Given the description of an element on the screen output the (x, y) to click on. 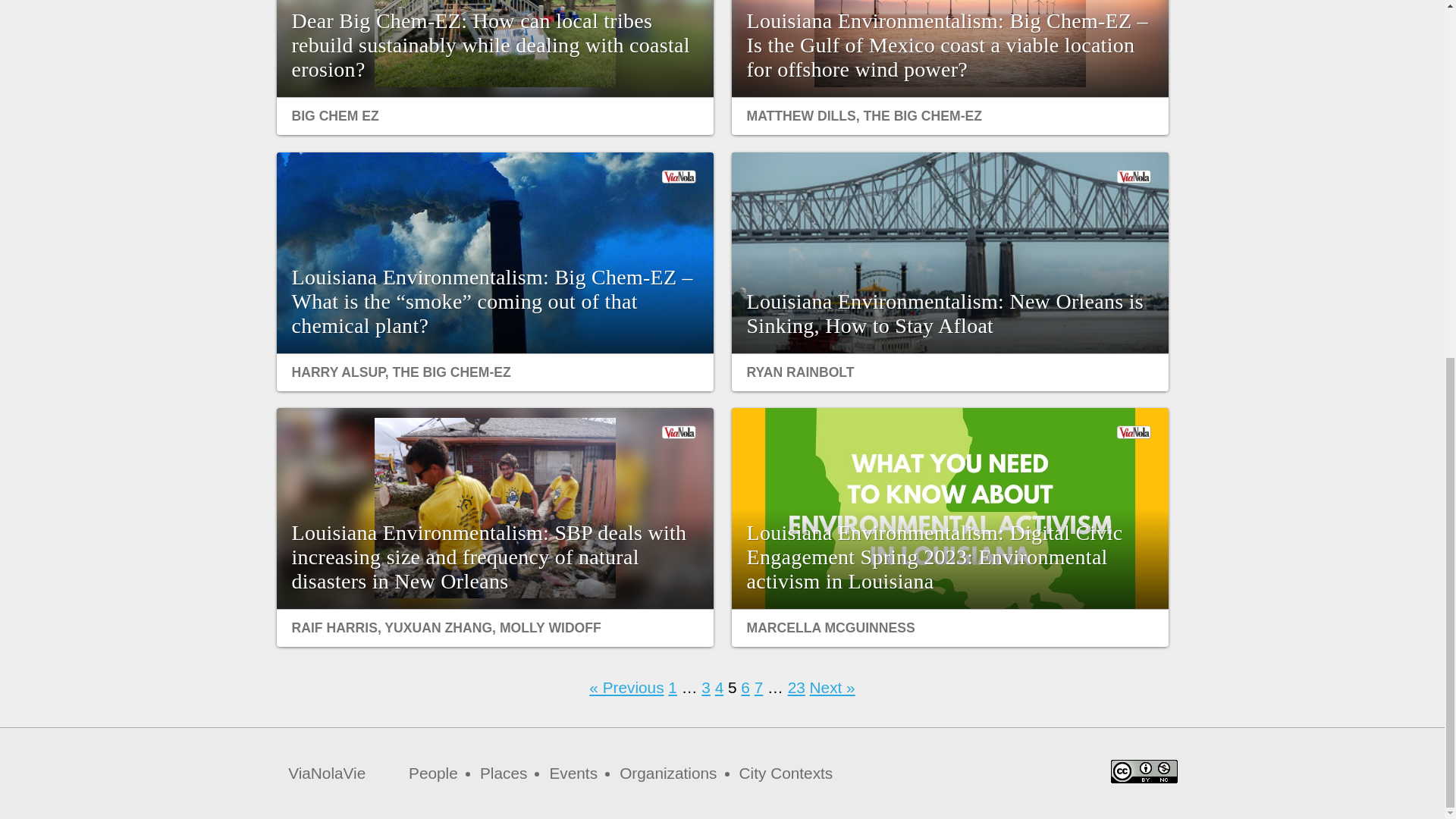
MOLLY WIDOFF (550, 627)
ViaNolaVie (325, 773)
RAIF HARRIS (334, 627)
HARRY ALSUP (337, 372)
RYAN RAINBOLT (799, 372)
MARCELLA MCGUINNESS (829, 627)
Places (503, 773)
BIG CHEM EZ (334, 115)
23 (796, 687)
YUXUAN ZHANG (438, 627)
MATTHEW DILLS (800, 115)
People (433, 773)
